Given the description of an element on the screen output the (x, y) to click on. 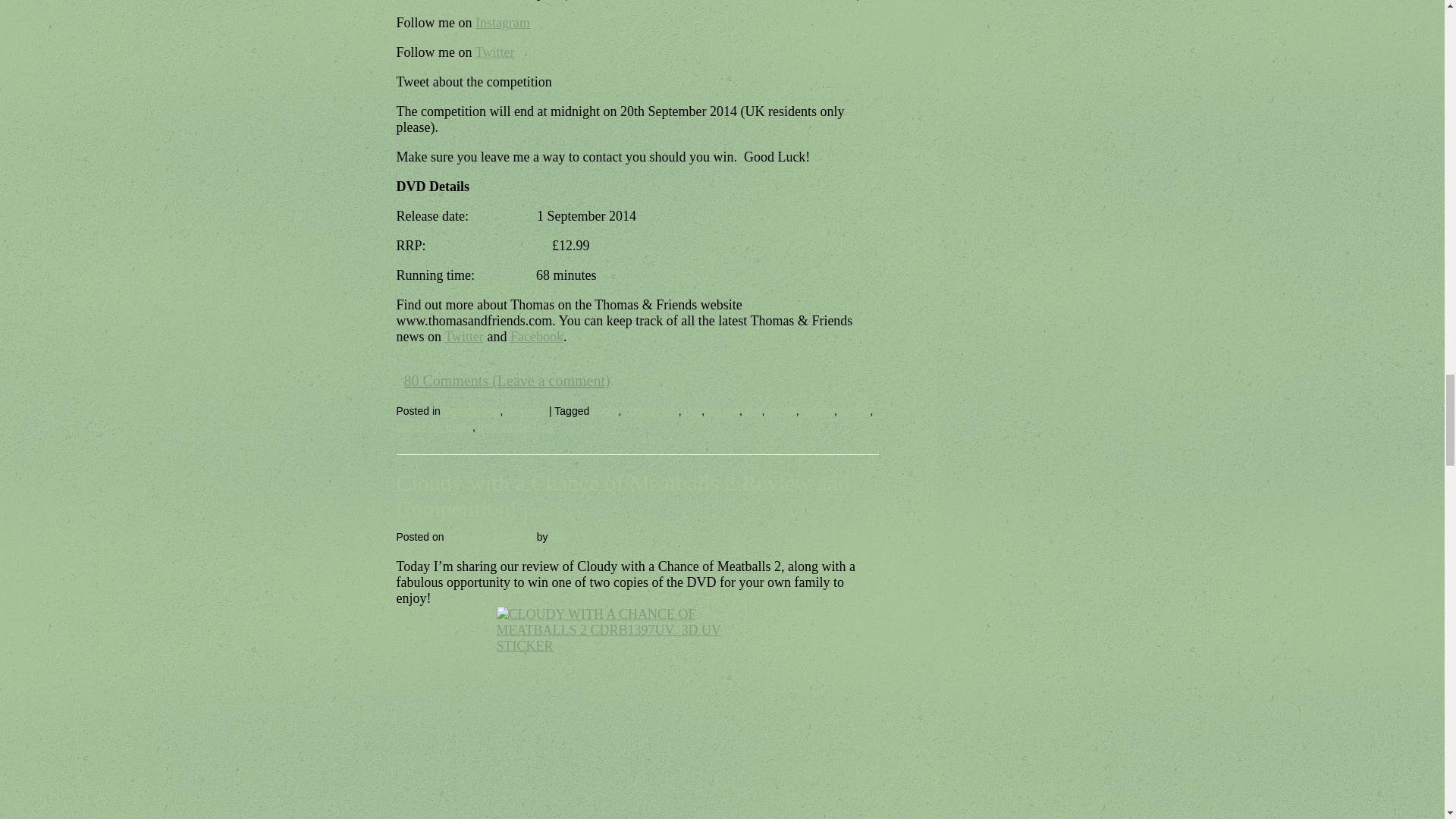
Twitter (495, 52)
review (855, 410)
Reviews (525, 410)
thomas the tank (516, 426)
dvd (692, 410)
engine (723, 410)
Twitter (463, 336)
Cloudy with a Chance of Meatballs 2 Review and Competition! (622, 495)
film (753, 410)
